Given the description of an element on the screen output the (x, y) to click on. 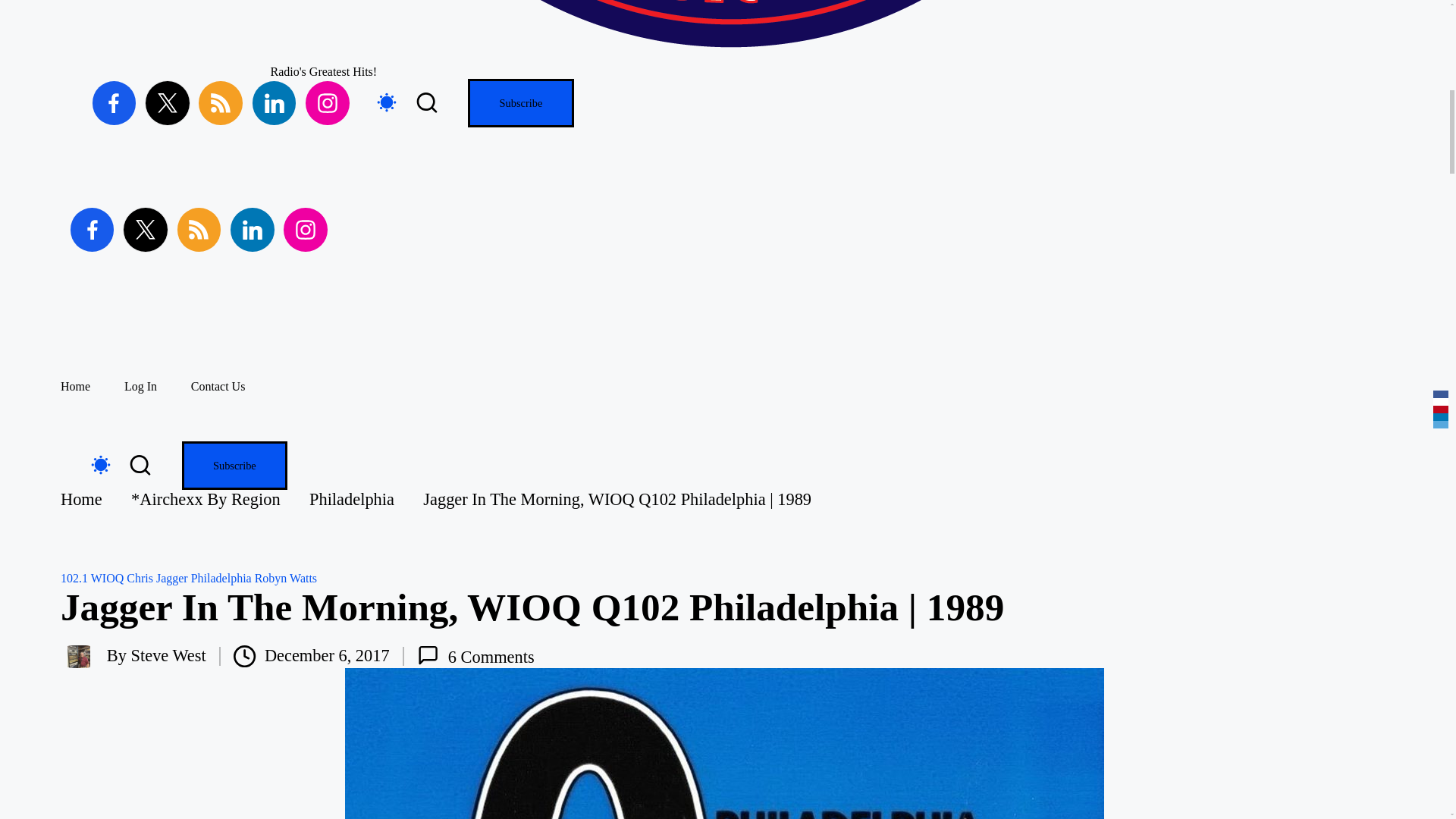
Log In (140, 386)
rss.com (224, 103)
linkedin.com (256, 229)
instagram.com (309, 229)
Contact Us (218, 386)
Steve West (168, 655)
Subscribe (520, 102)
rss.com (203, 229)
Robyn Watts (285, 577)
Home (81, 499)
Philadelphia (351, 499)
Philadelphia (220, 577)
facebook.com (119, 103)
Home (75, 386)
Chris Jagger (156, 577)
